Given the description of an element on the screen output the (x, y) to click on. 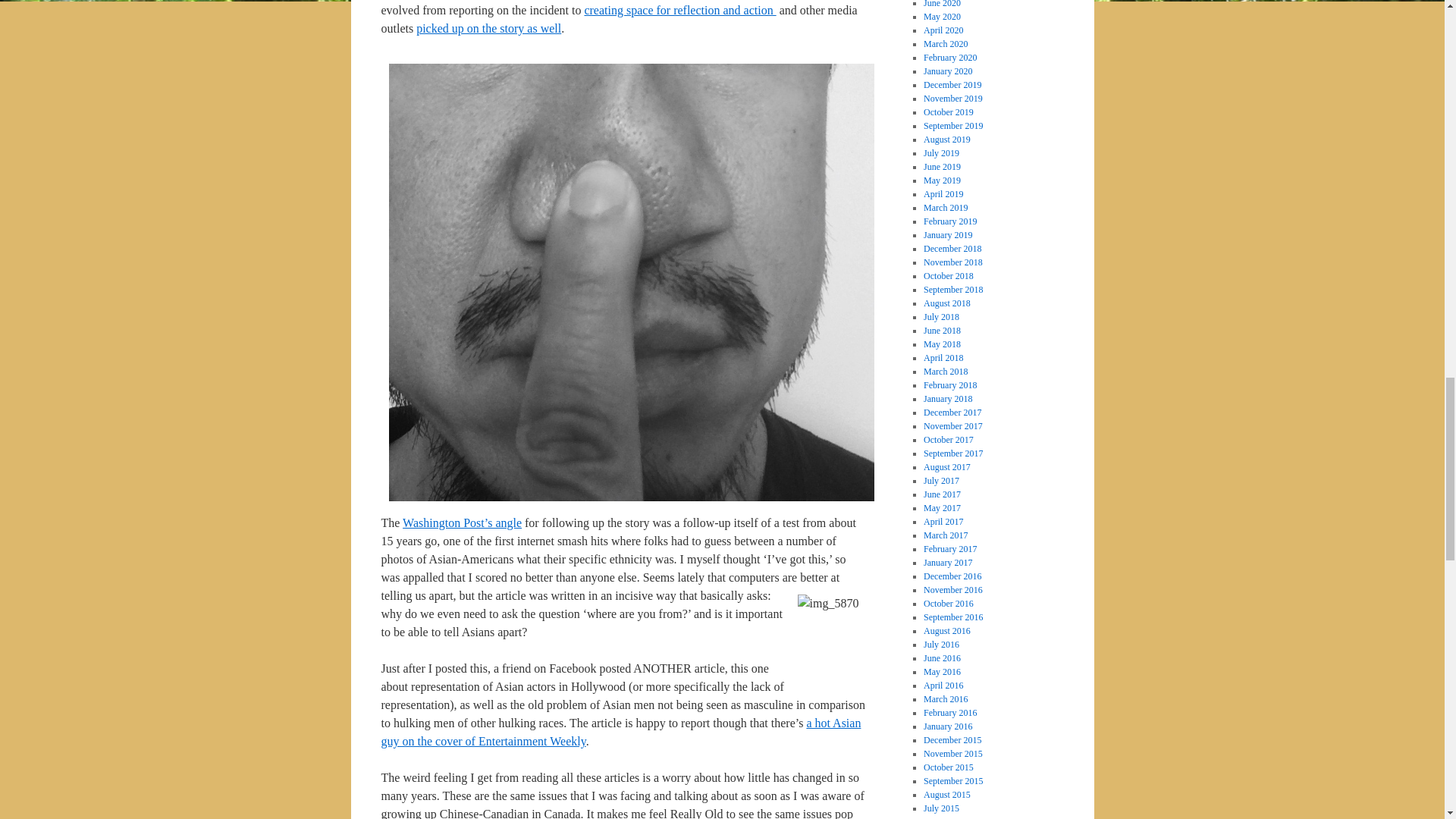
creating space for reflection and action  (679, 10)
picked up on the story as well (488, 28)
a hot Asian guy on the cover of Entertainment Weekly (620, 731)
